Given the description of an element on the screen output the (x, y) to click on. 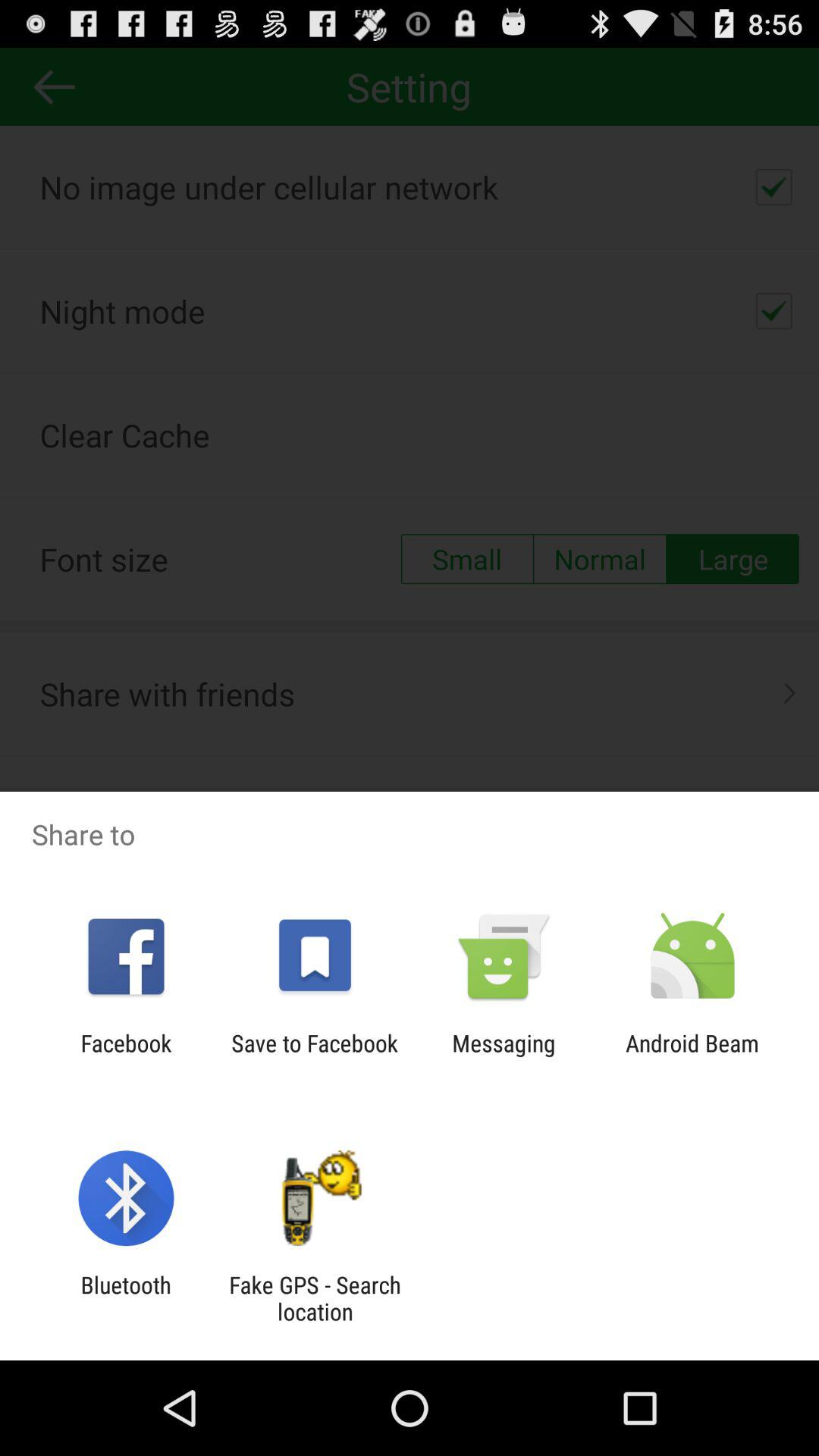
turn off the fake gps search app (314, 1298)
